Given the description of an element on the screen output the (x, y) to click on. 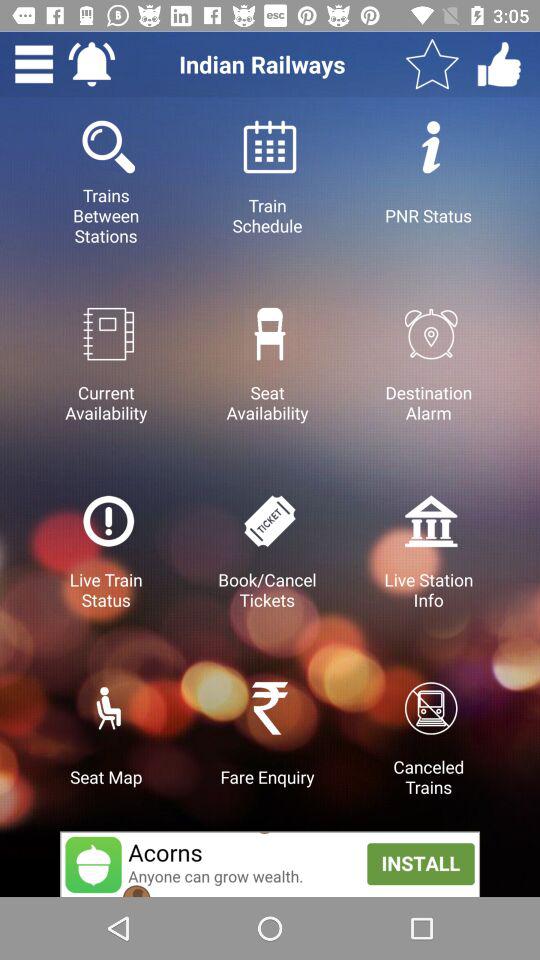
advertisement click (270, 864)
